Given the description of an element on the screen output the (x, y) to click on. 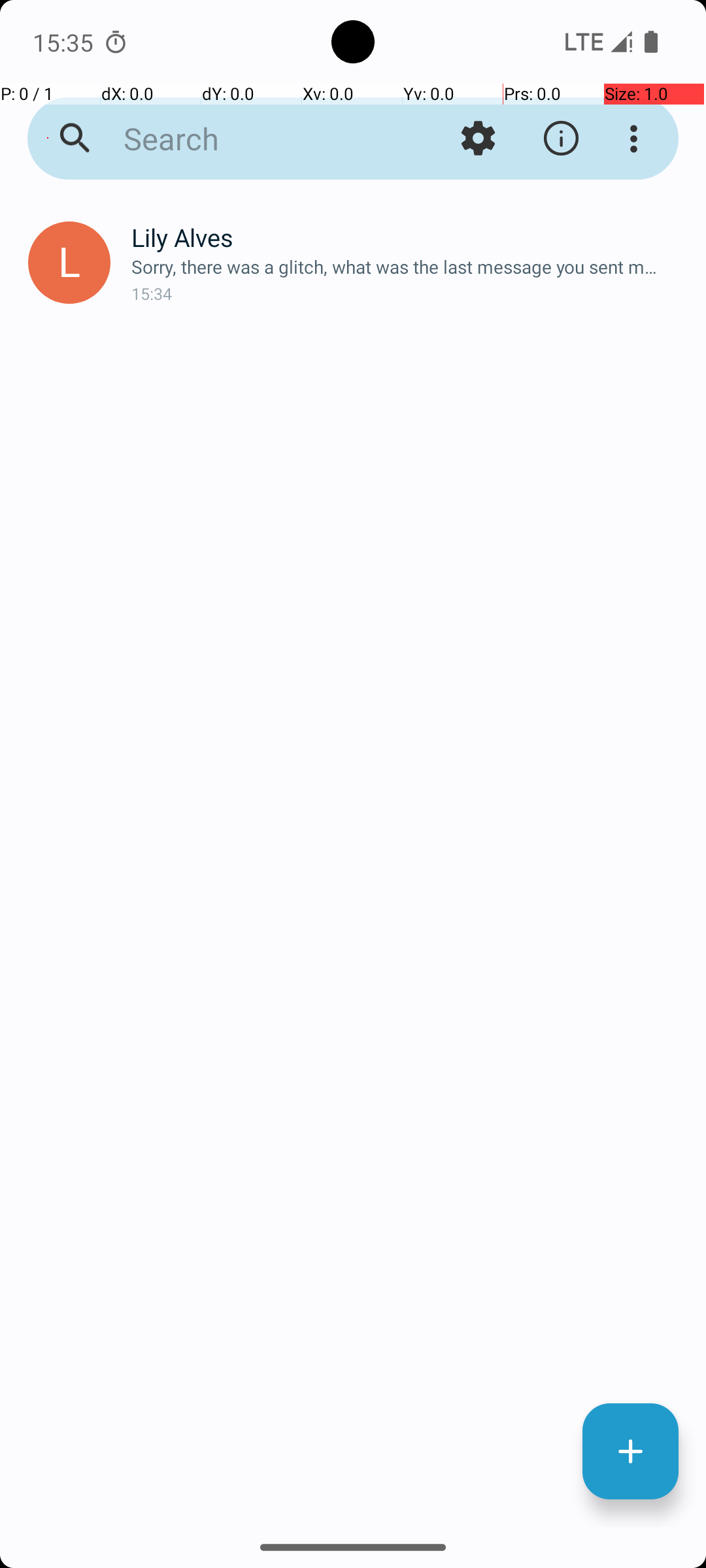
Lily Alves Element type: android.widget.TextView (408, 237)
